Given the description of an element on the screen output the (x, y) to click on. 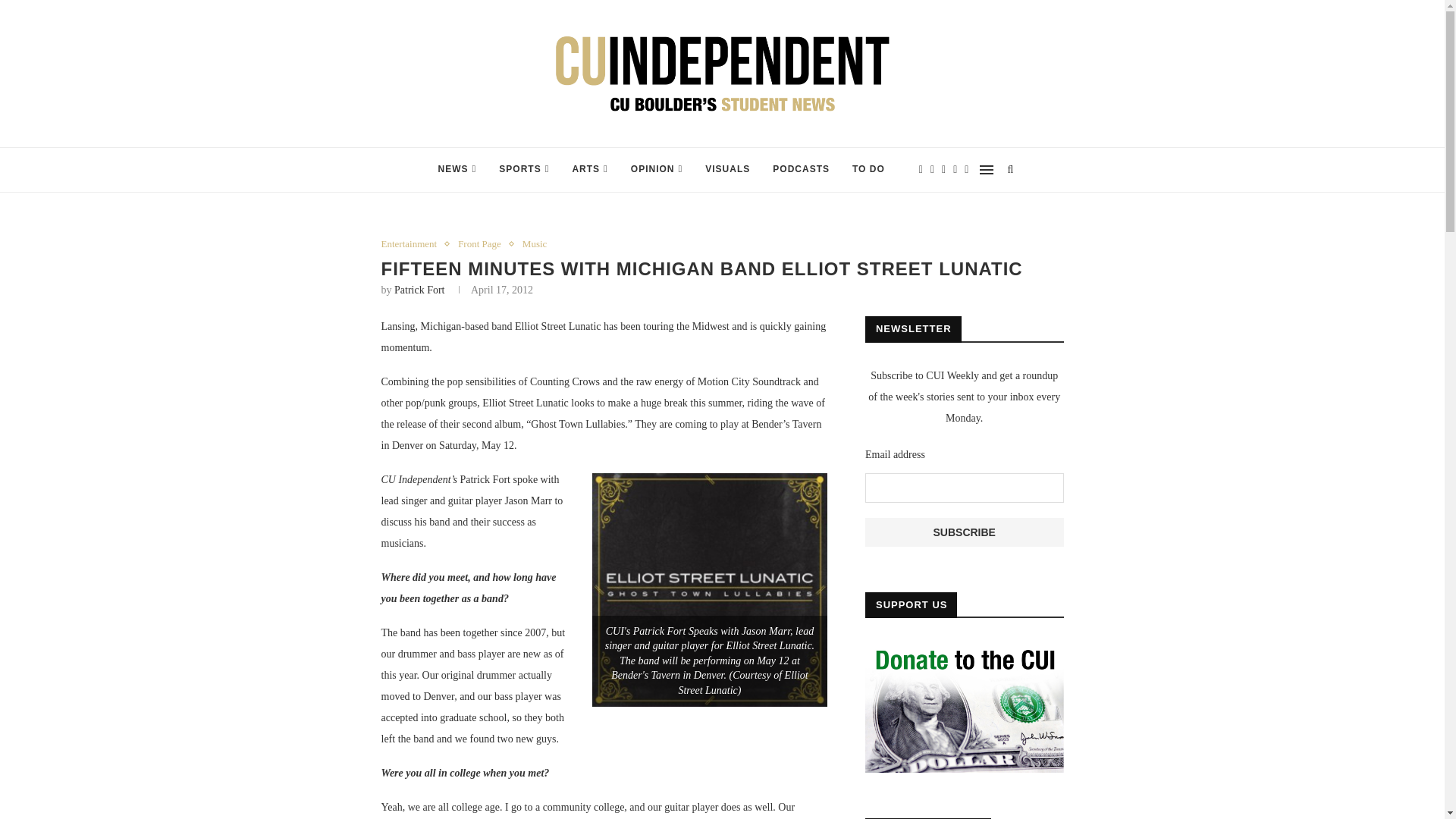
esl-albumartidea5 (709, 589)
Subscribe (964, 532)
